Given the description of an element on the screen output the (x, y) to click on. 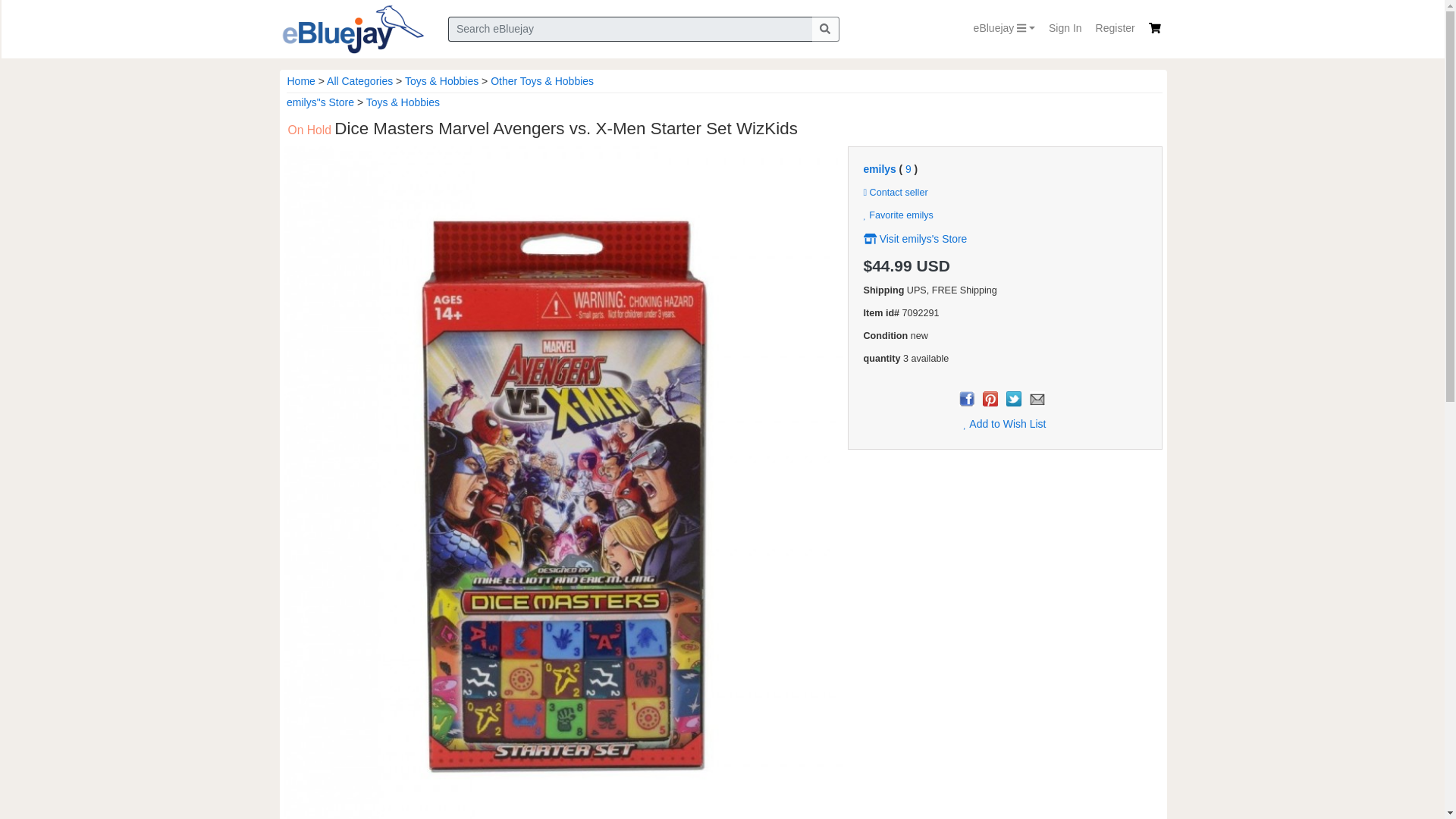
Purchase items in your shopping cart (1154, 27)
Register (1115, 28)
Purchase items in your shopping cart (1154, 27)
Contact seller (895, 192)
eBluejay (1004, 28)
submit (824, 29)
eBluejay Online Marketplace (352, 29)
eBluejay categories (1004, 28)
emilys (879, 168)
Home (300, 80)
emilys"s Store (319, 102)
US Dollars (933, 265)
All Categories (359, 80)
